Given the description of an element on the screen output the (x, y) to click on. 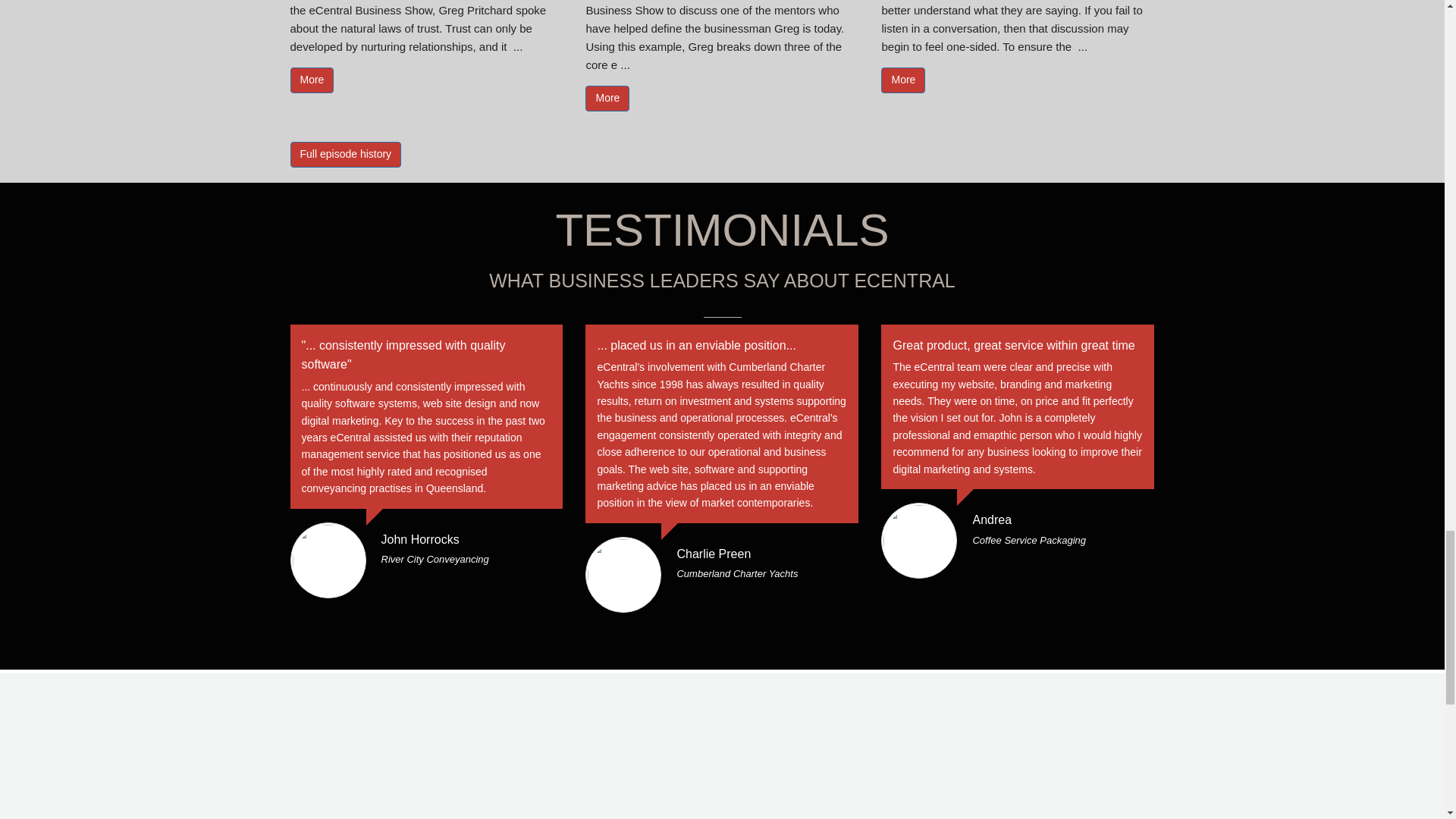
More (311, 80)
More (606, 98)
Full episode history (345, 154)
More (902, 80)
